Given the description of an element on the screen output the (x, y) to click on. 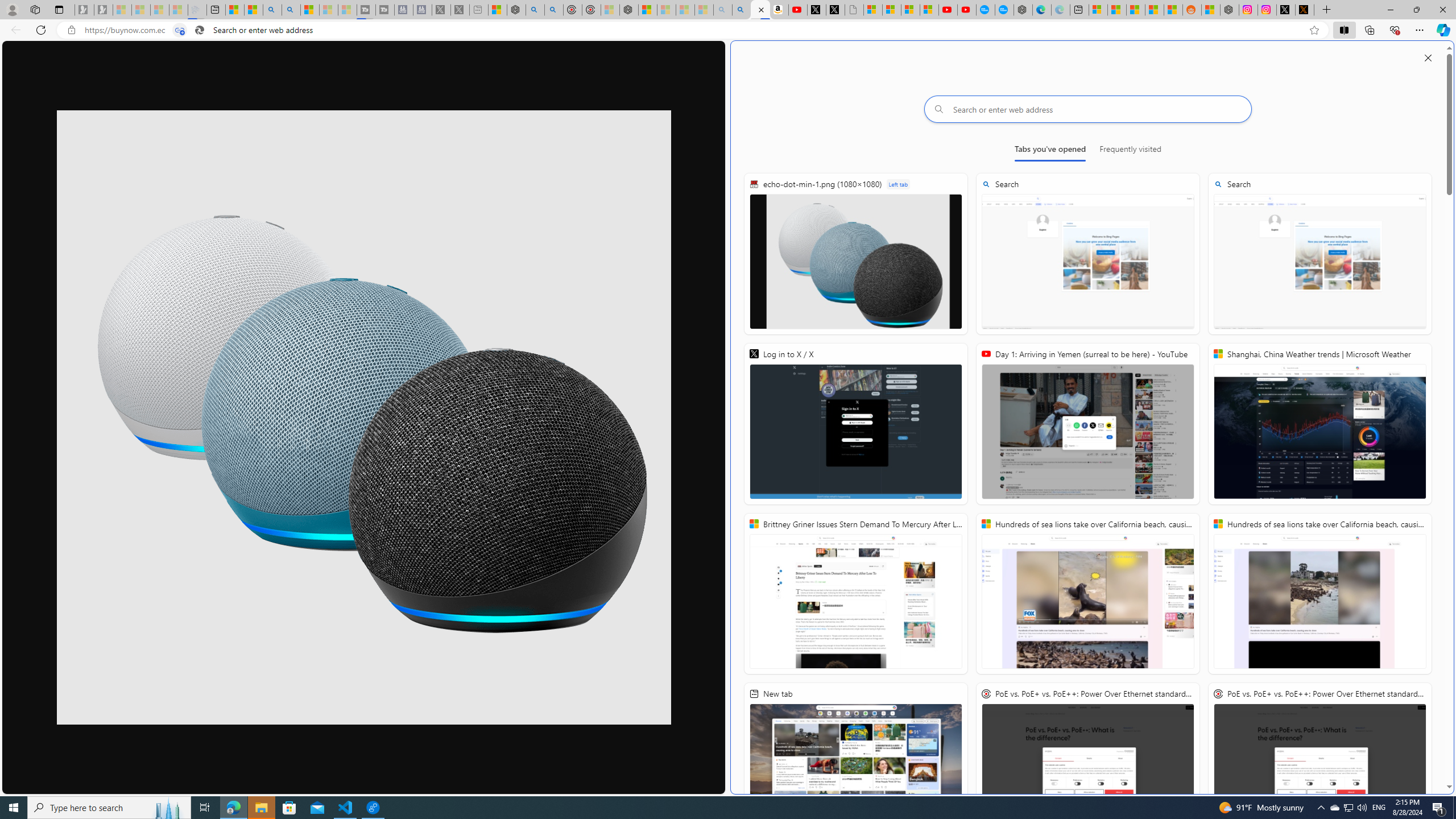
Nordace - Summer Adventures 2024 (1229, 9)
Close tab (761, 9)
App bar (728, 29)
Personal Profile (12, 9)
poe - Search (534, 9)
Frequently visited (1130, 151)
Search or enter web address (1088, 108)
Search icon (199, 29)
poe ++ standard - Search (553, 9)
